Given the description of an element on the screen output the (x, y) to click on. 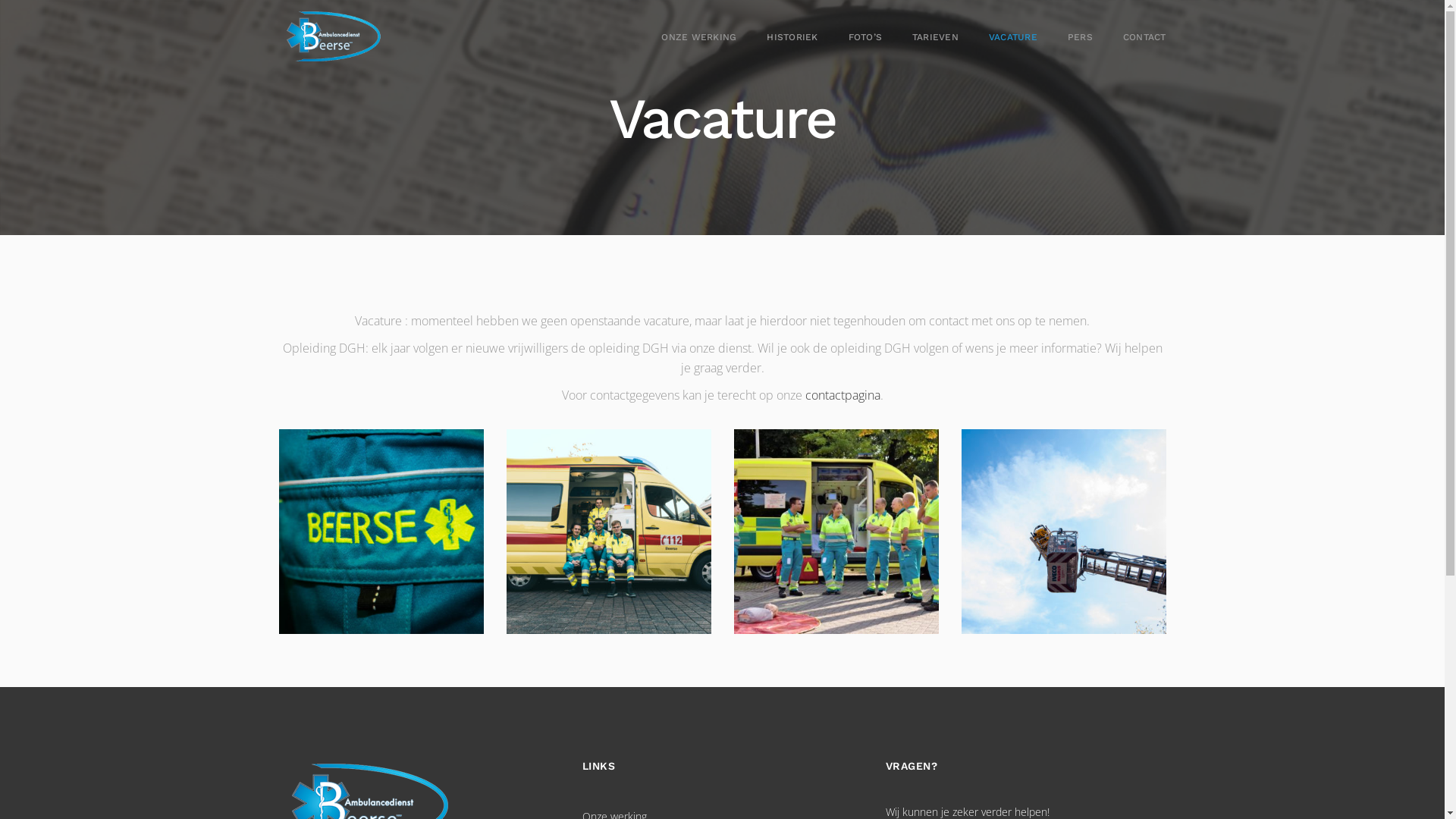
HISTORIEK Element type: text (778, 37)
VACATURE Element type: text (999, 37)
CONTACT Element type: text (1130, 37)
TARIEVEN Element type: text (921, 37)
PERS Element type: text (1066, 37)
contactpagina Element type: text (842, 394)
ONZE WERKING Element type: text (684, 37)
